Given the description of an element on the screen output the (x, y) to click on. 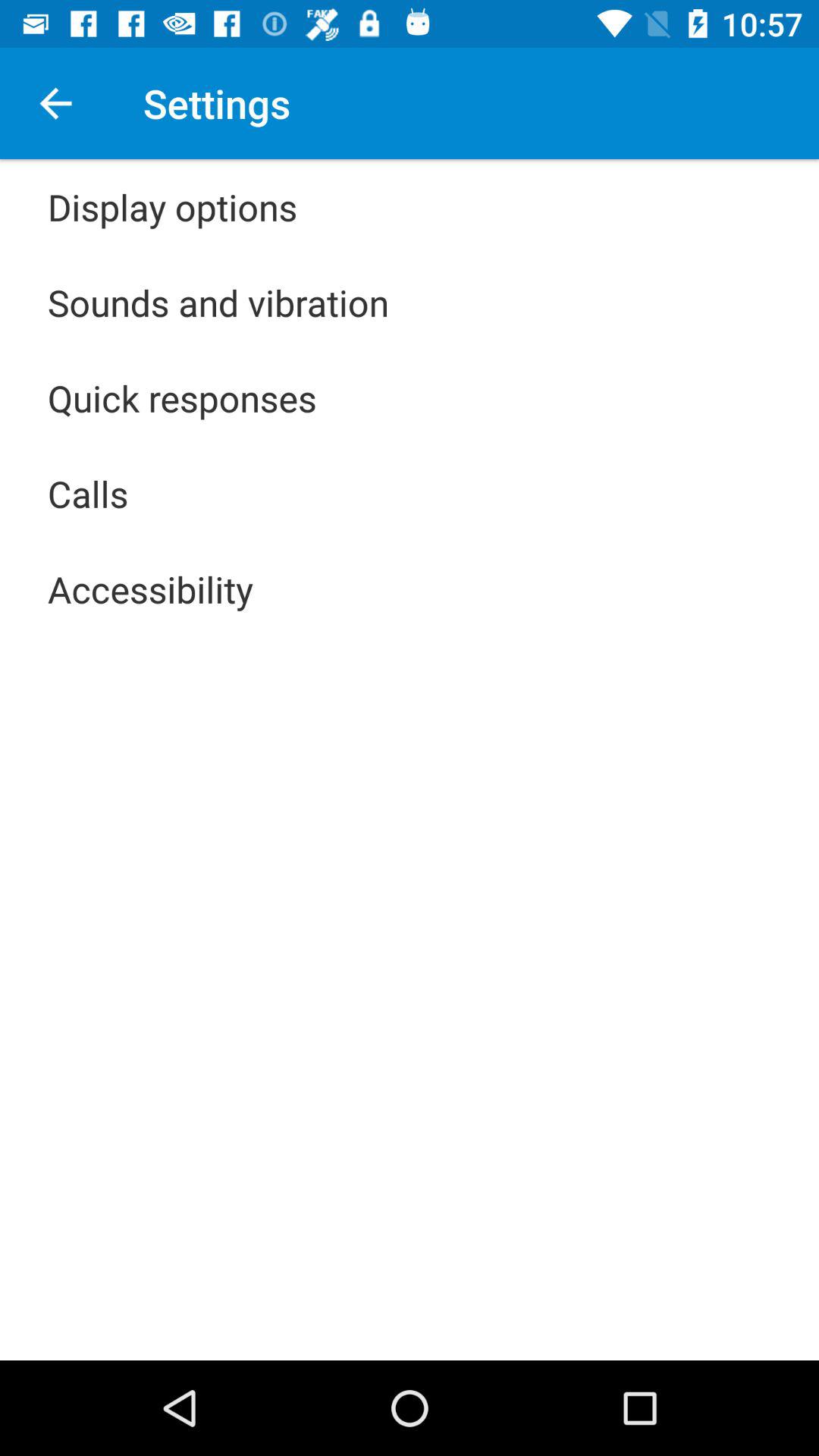
choose the calls app (87, 493)
